Given the description of an element on the screen output the (x, y) to click on. 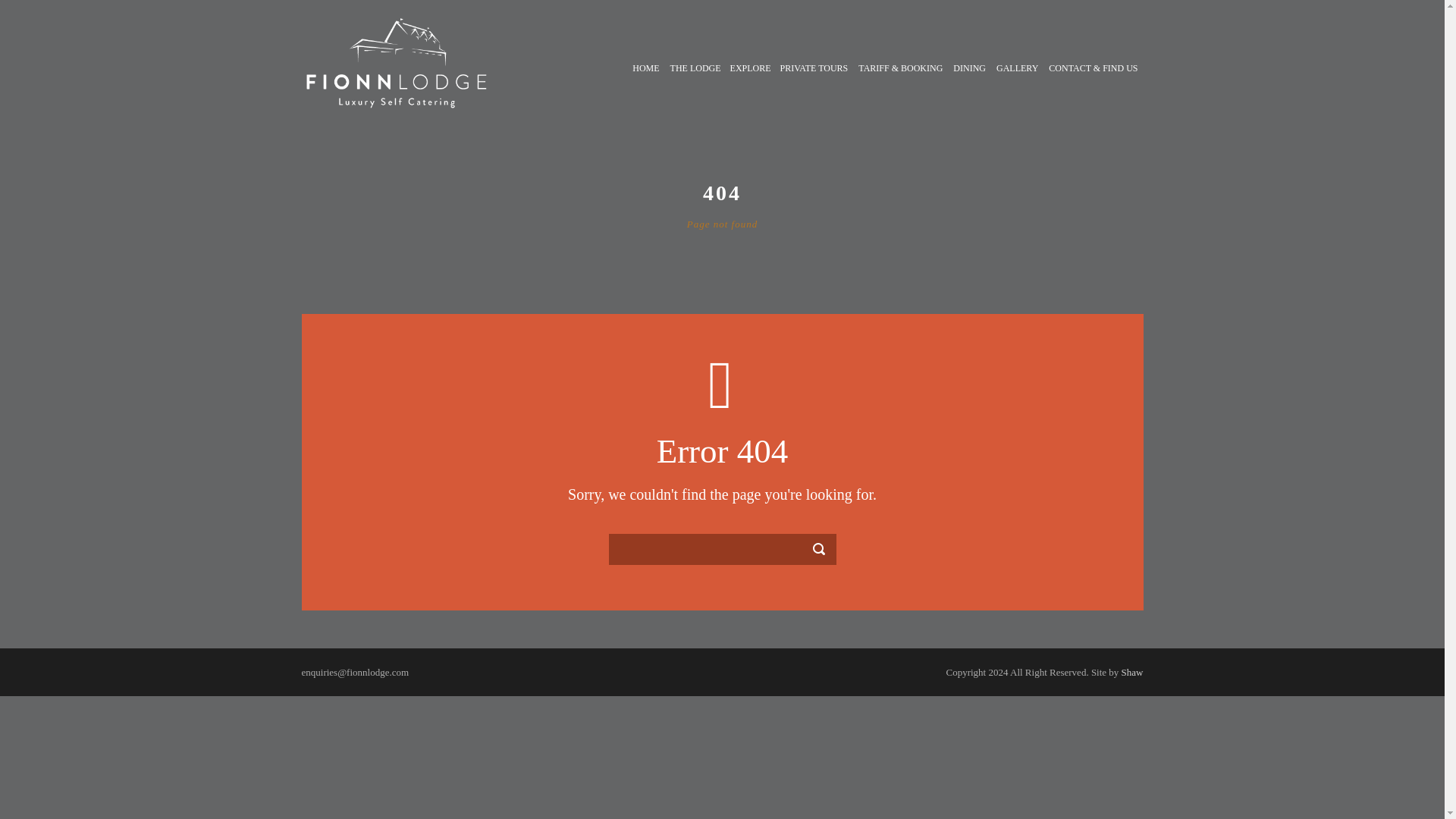
EXPLORE (749, 84)
Shaw (1131, 672)
THE LODGE (695, 84)
PRIVATE TOURS (813, 84)
GALLERY (1017, 84)
